Given the description of an element on the screen output the (x, y) to click on. 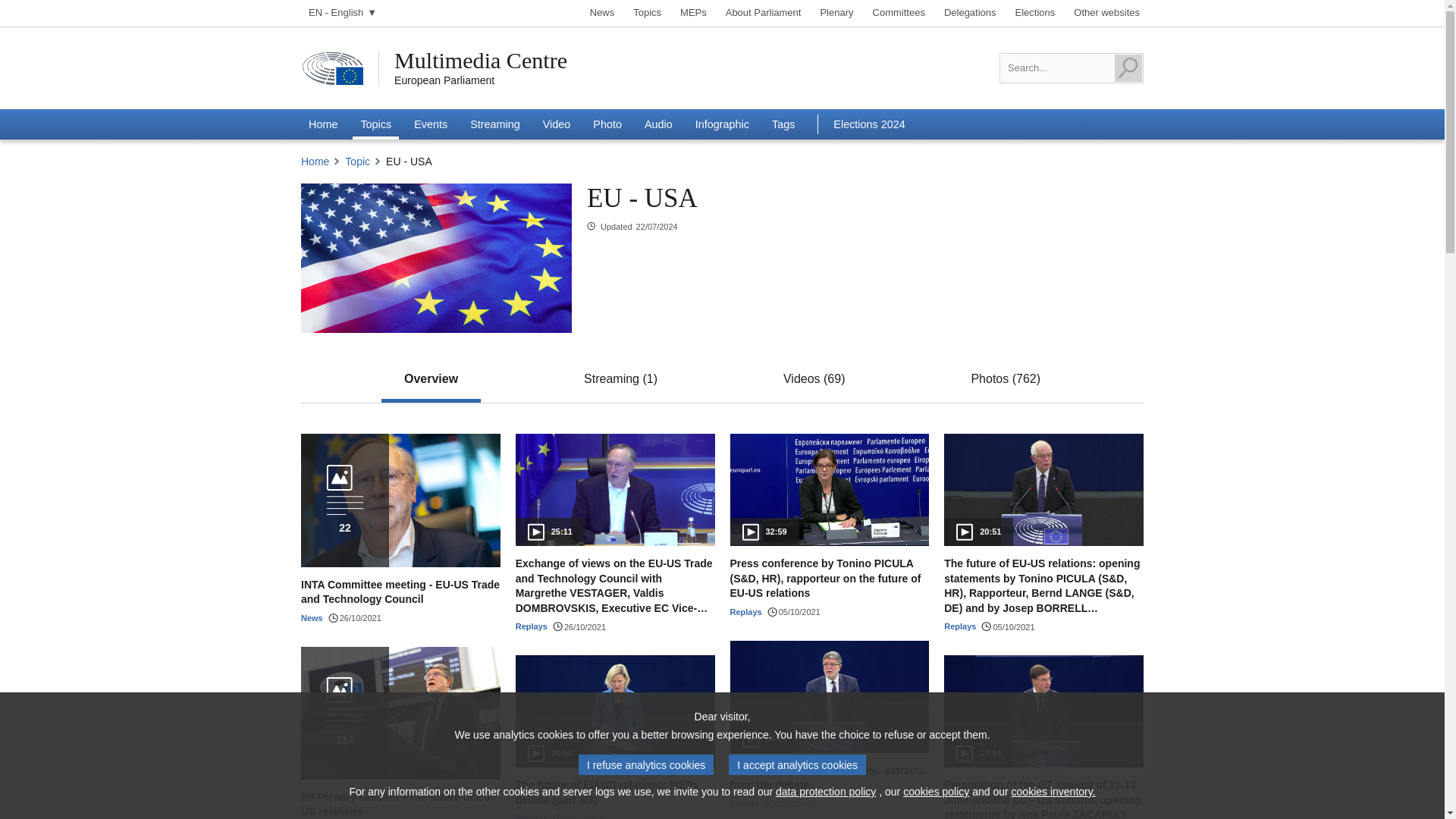
Committees (898, 13)
Delegations (970, 13)
MEPs (693, 13)
cookies inventory. (1053, 791)
Plenary (836, 13)
Elections (1035, 13)
I refuse analytics cookies (645, 764)
Committees (898, 13)
News (602, 13)
Topics (646, 13)
About Parliament (763, 13)
cookies policy (935, 791)
Plenary (836, 13)
Elections (1035, 13)
Delegations (970, 13)
